Given the description of an element on the screen output the (x, y) to click on. 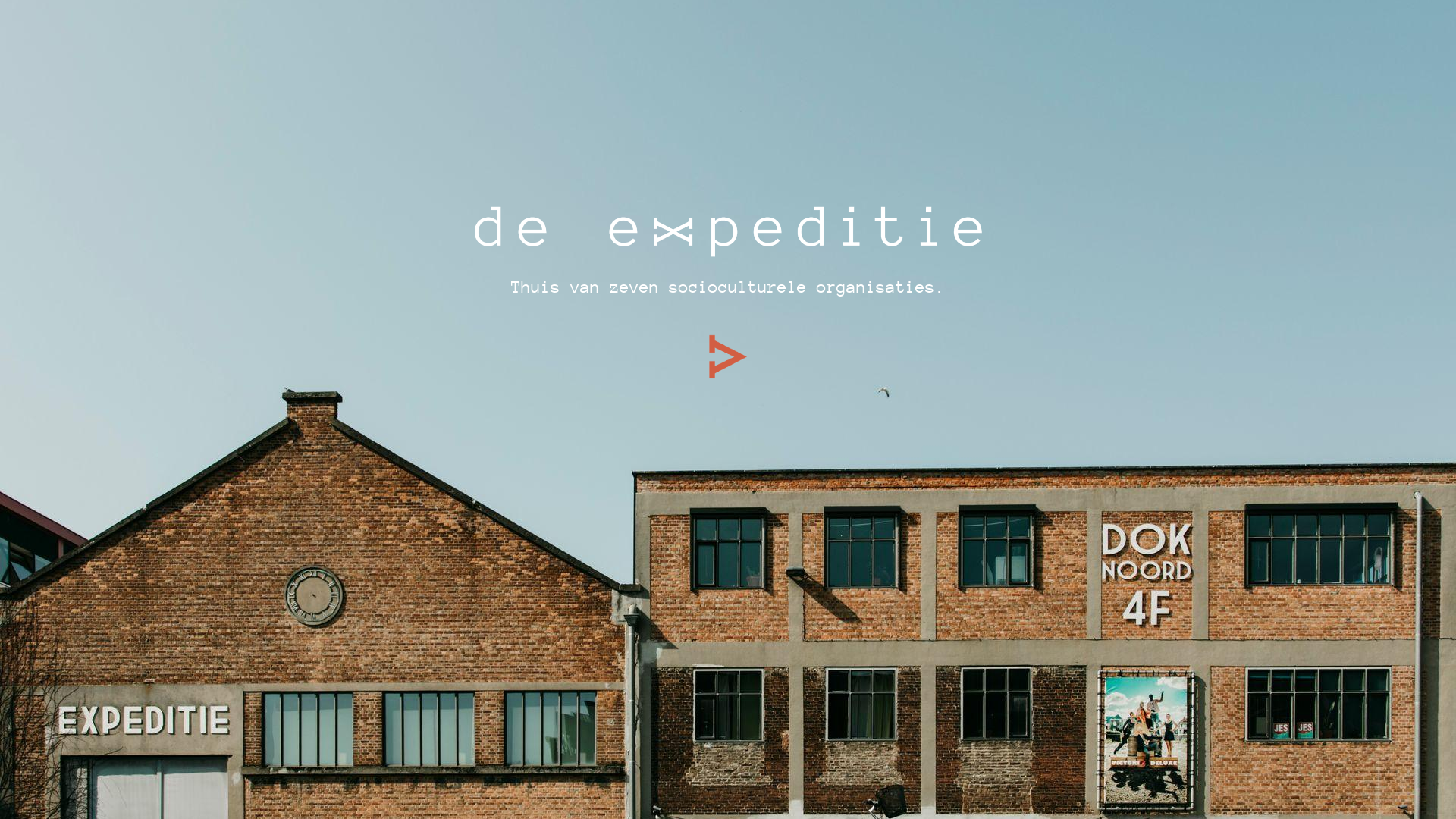
 Thuis van zeven socioculturele organisaties Element type: text (718, 286)
